Given the description of an element on the screen output the (x, y) to click on. 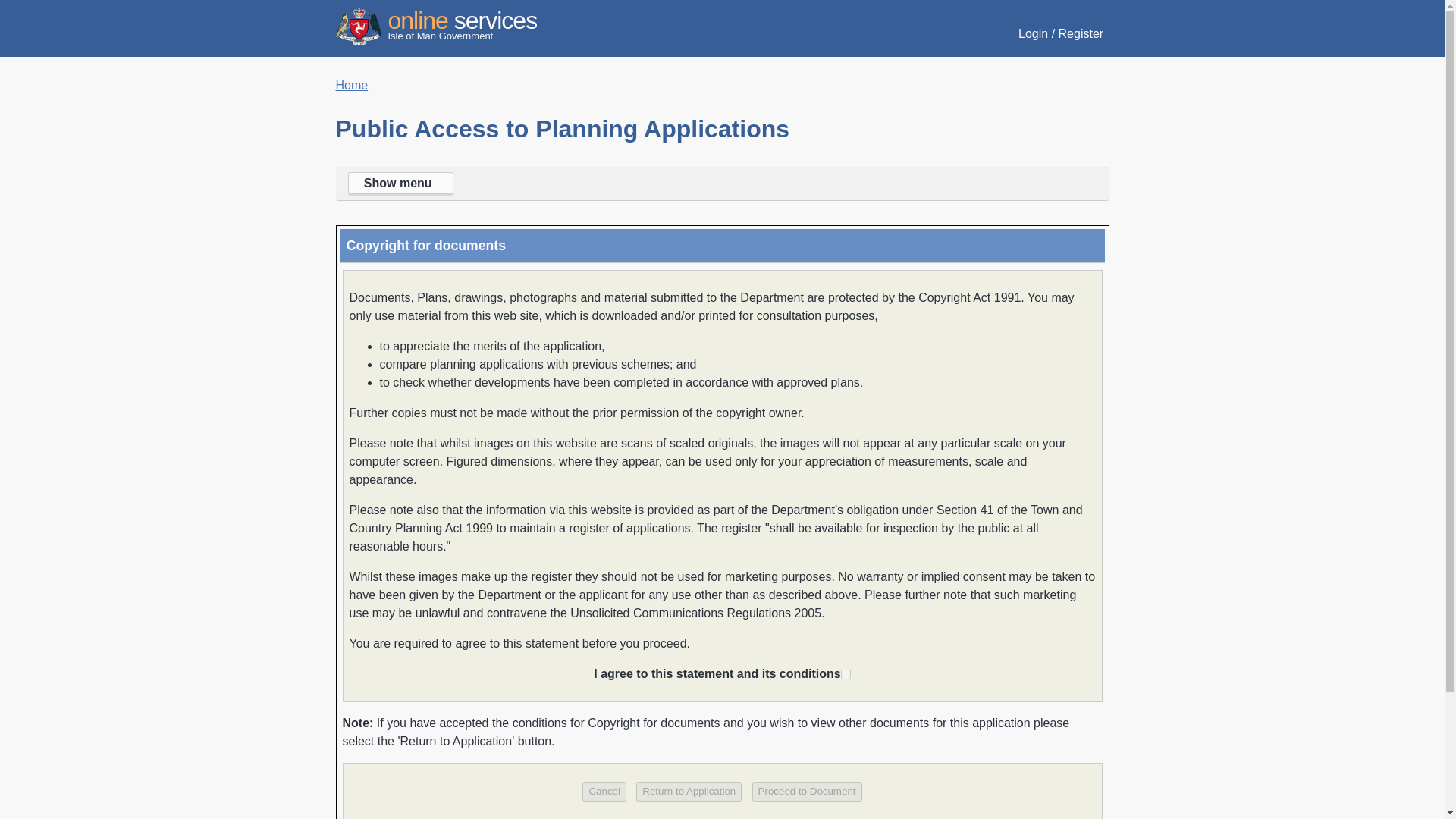
Return to Application (688, 791)
Proceed to Document (806, 791)
Home (351, 84)
Return to Application (688, 791)
Proceed to Document (806, 791)
Show menu (721, 183)
Cancel (604, 791)
Cancel (435, 23)
on (604, 791)
